Given the description of an element on the screen output the (x, y) to click on. 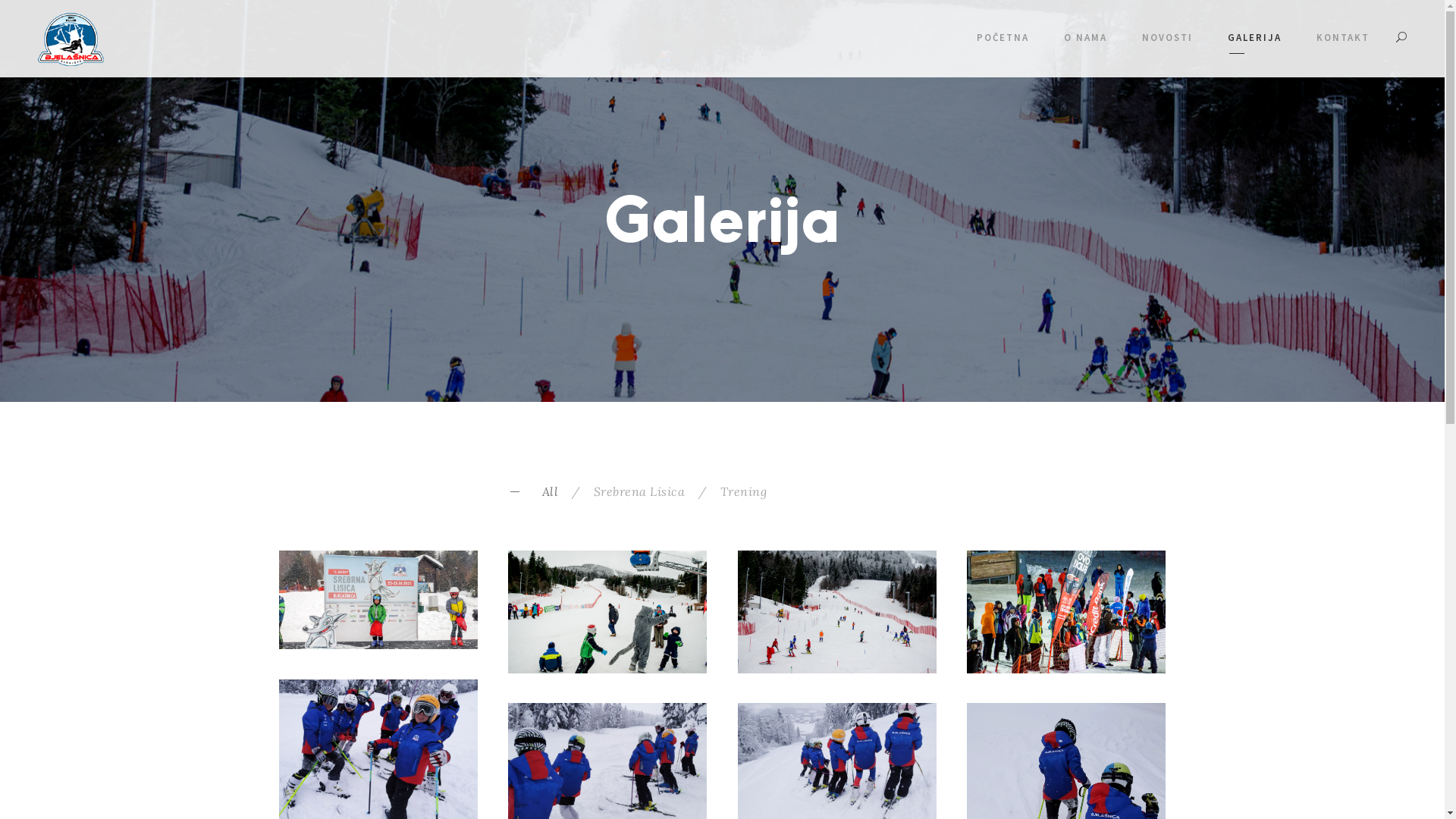
All Element type: text (549, 490)
GALERIJA Element type: text (1254, 41)
10 Element type: hover (378, 599)
Trening Element type: text (743, 490)
O NAMA Element type: text (1085, 41)
7 Element type: hover (1065, 611)
8 Element type: hover (836, 611)
KONTAKT Element type: text (1342, 41)
9 Element type: hover (607, 611)
Srebrena Lisica Element type: text (638, 490)
NOVOSTI Element type: text (1167, 41)
